Given the description of an element on the screen output the (x, y) to click on. 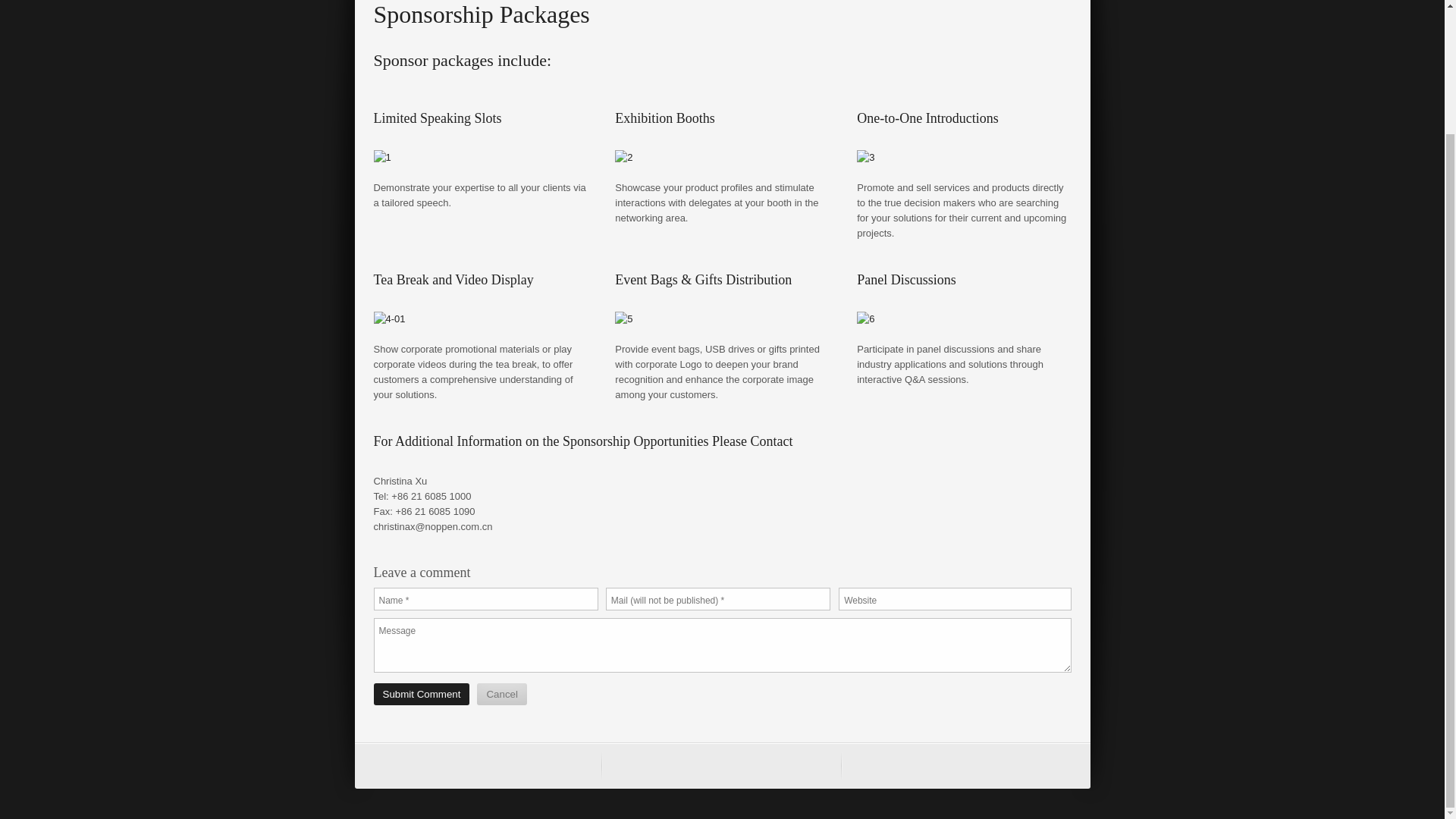
Submit Comment (420, 694)
Submit Comment (420, 694)
Cancel (502, 694)
